Given the description of an element on the screen output the (x, y) to click on. 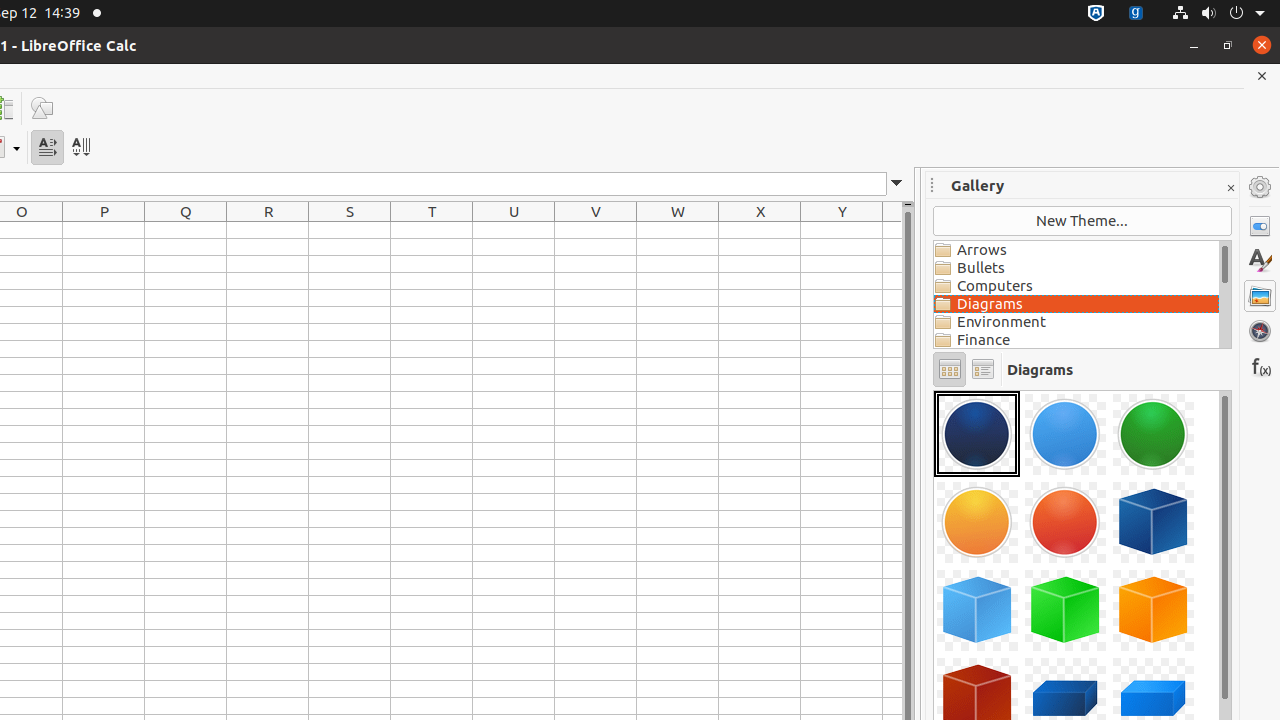
:1.21/StatusNotifierItem Element type: menu (1136, 13)
R1 Element type: table-cell (268, 230)
Component-Circle02-Transparent-Bule Element type: list-item (1065, 433)
V1 Element type: table-cell (596, 230)
Text direction from left to right Element type: toggle-button (47, 147)
